Given the description of an element on the screen output the (x, y) to click on. 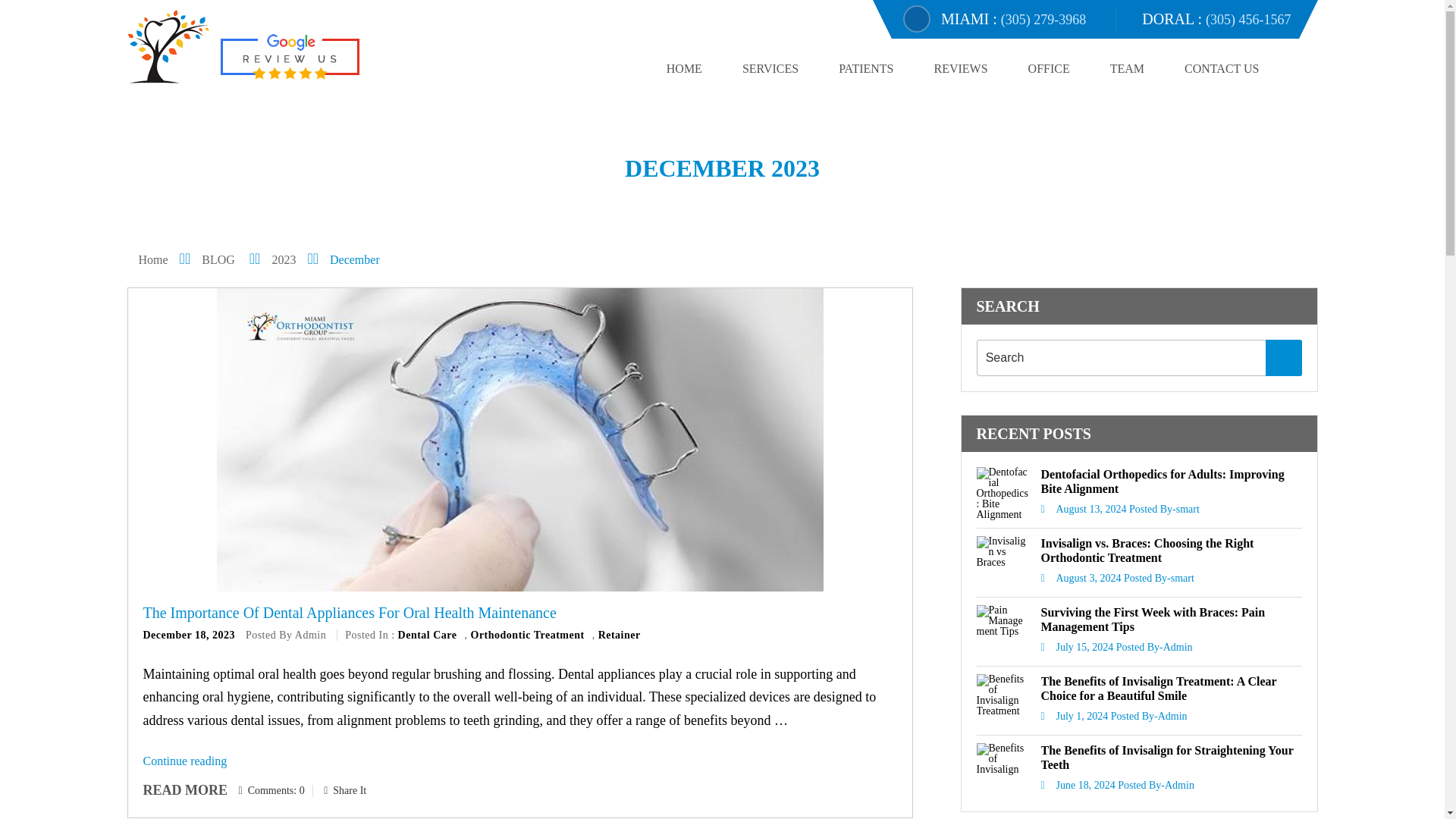
invisalign treatment (145, 4)
TEAM (1126, 68)
Teeth Straightening (317, 4)
Go to the 2023 archives. (294, 259)
CONTACT US (1222, 68)
Dental Implants (378, 4)
Clear Braces (681, 4)
Orthognathic Surgery (441, 4)
SERVICES (769, 68)
Emergency Orthodontist, Florida (232, 4)
